Given the description of an element on the screen output the (x, y) to click on. 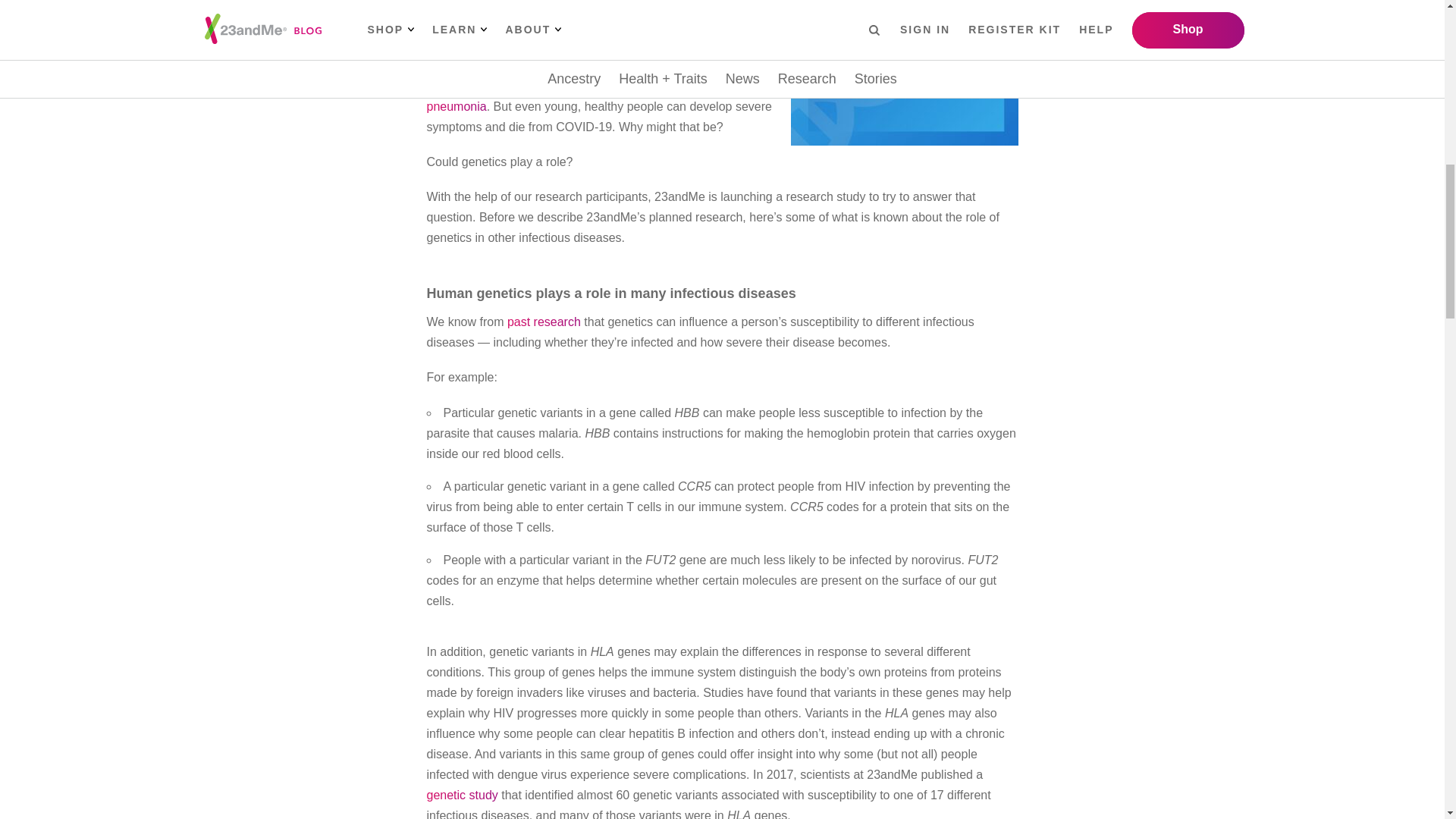
genetic study (461, 794)
past research (543, 321)
pneumonia (456, 106)
